Given the description of an element on the screen output the (x, y) to click on. 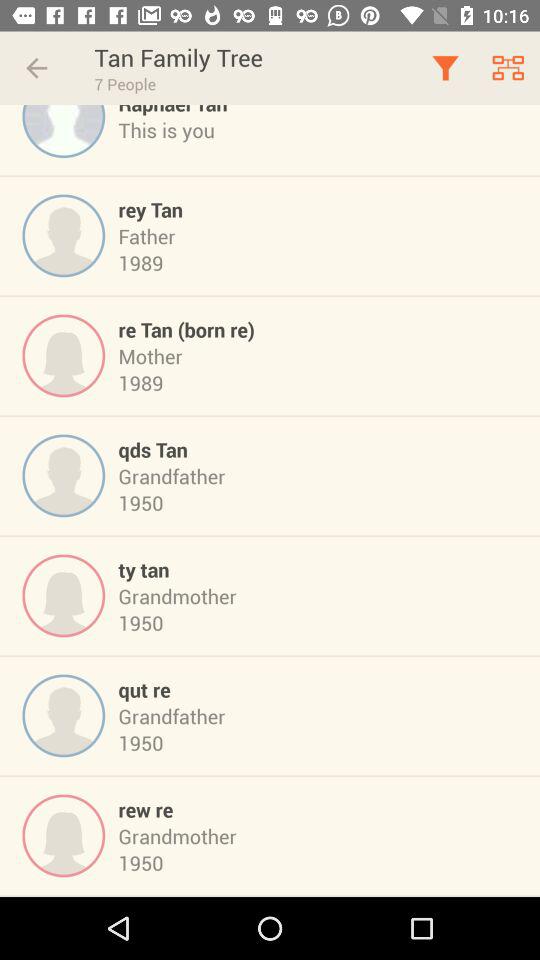
tap the item next to tan family tree item (36, 68)
